Given the description of an element on the screen output the (x, y) to click on. 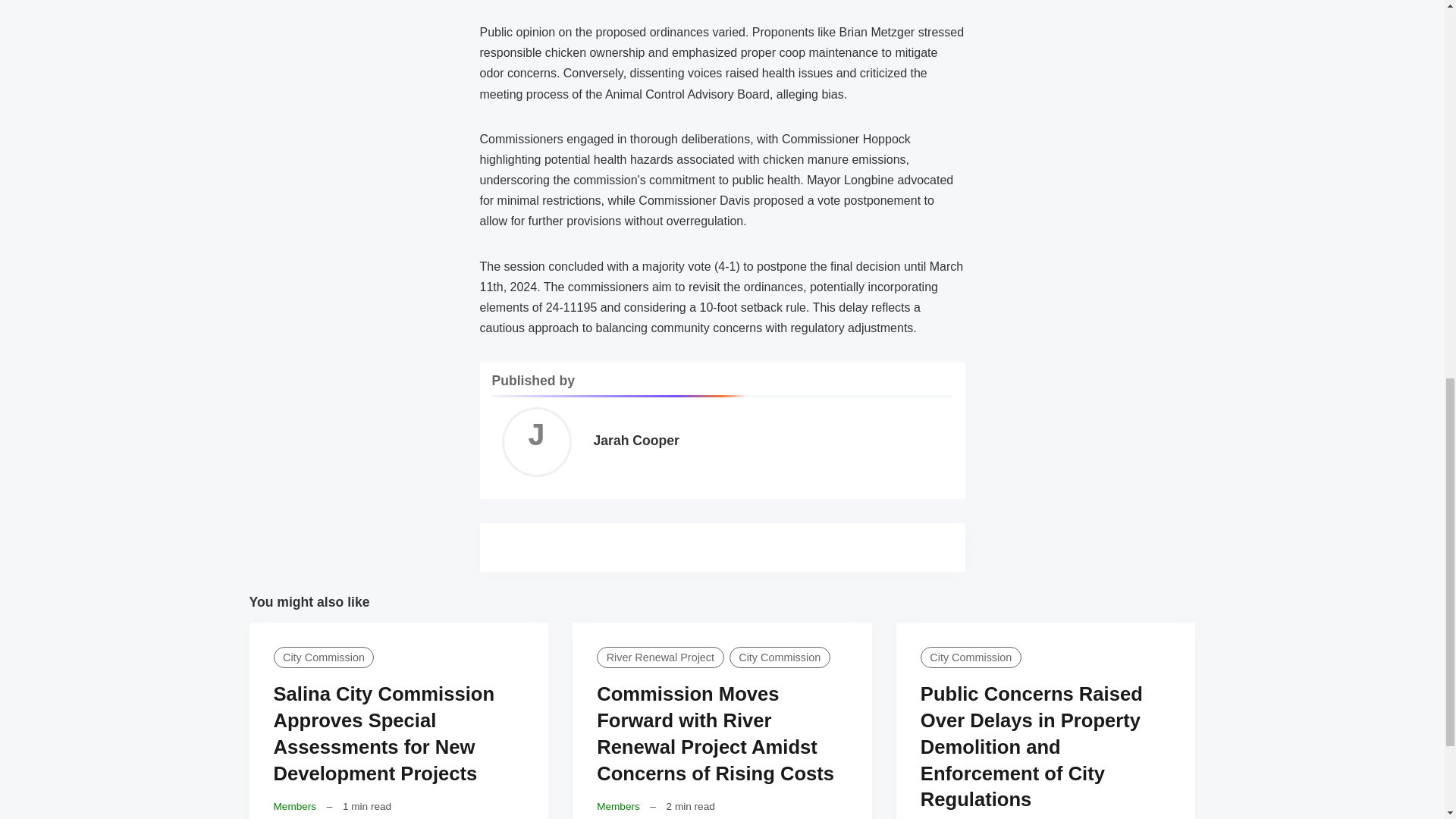
City Commission (323, 657)
Jarah Cooper (635, 440)
Jarah Cooper (536, 442)
